Given the description of an element on the screen output the (x, y) to click on. 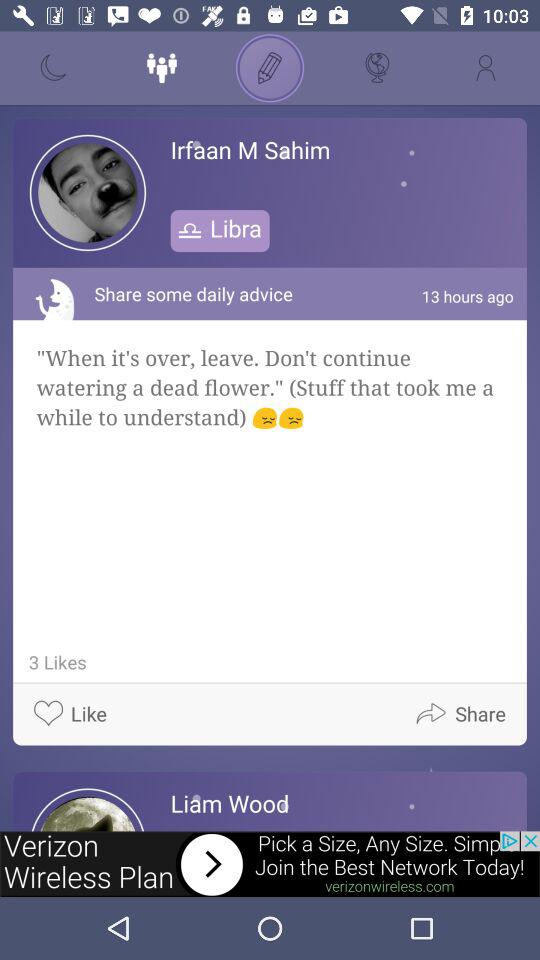
link to advertisement (270, 864)
